Given the description of an element on the screen output the (x, y) to click on. 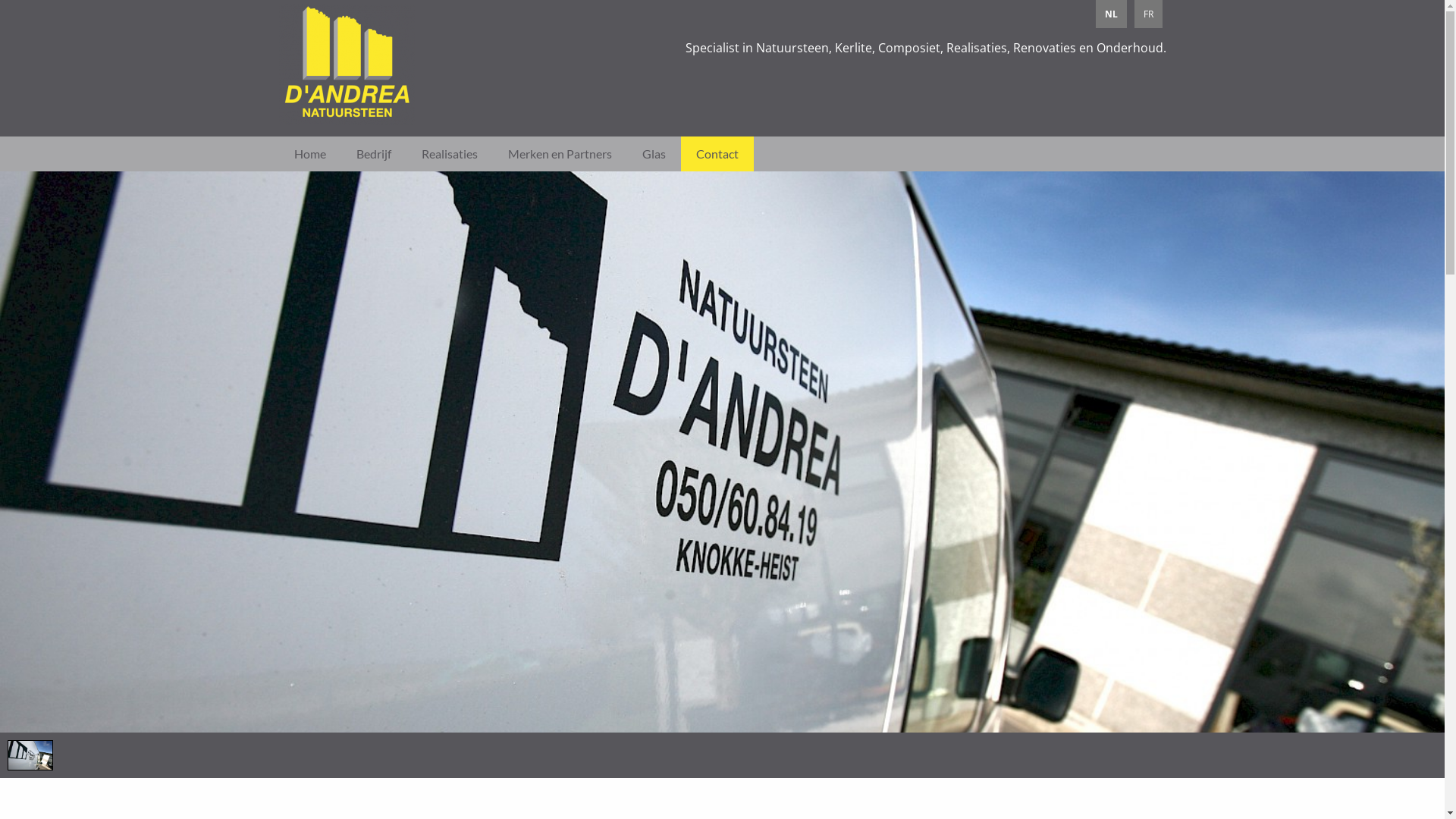
NL Element type: text (1110, 14)
Home Element type: text (310, 153)
Bedrijf Element type: text (373, 153)
Glas Element type: text (653, 153)
FR Element type: text (1148, 14)
Merken en Partners Element type: text (559, 153)
Realisaties Element type: text (449, 153)
Contact Element type: text (716, 153)
